Given the description of an element on the screen output the (x, y) to click on. 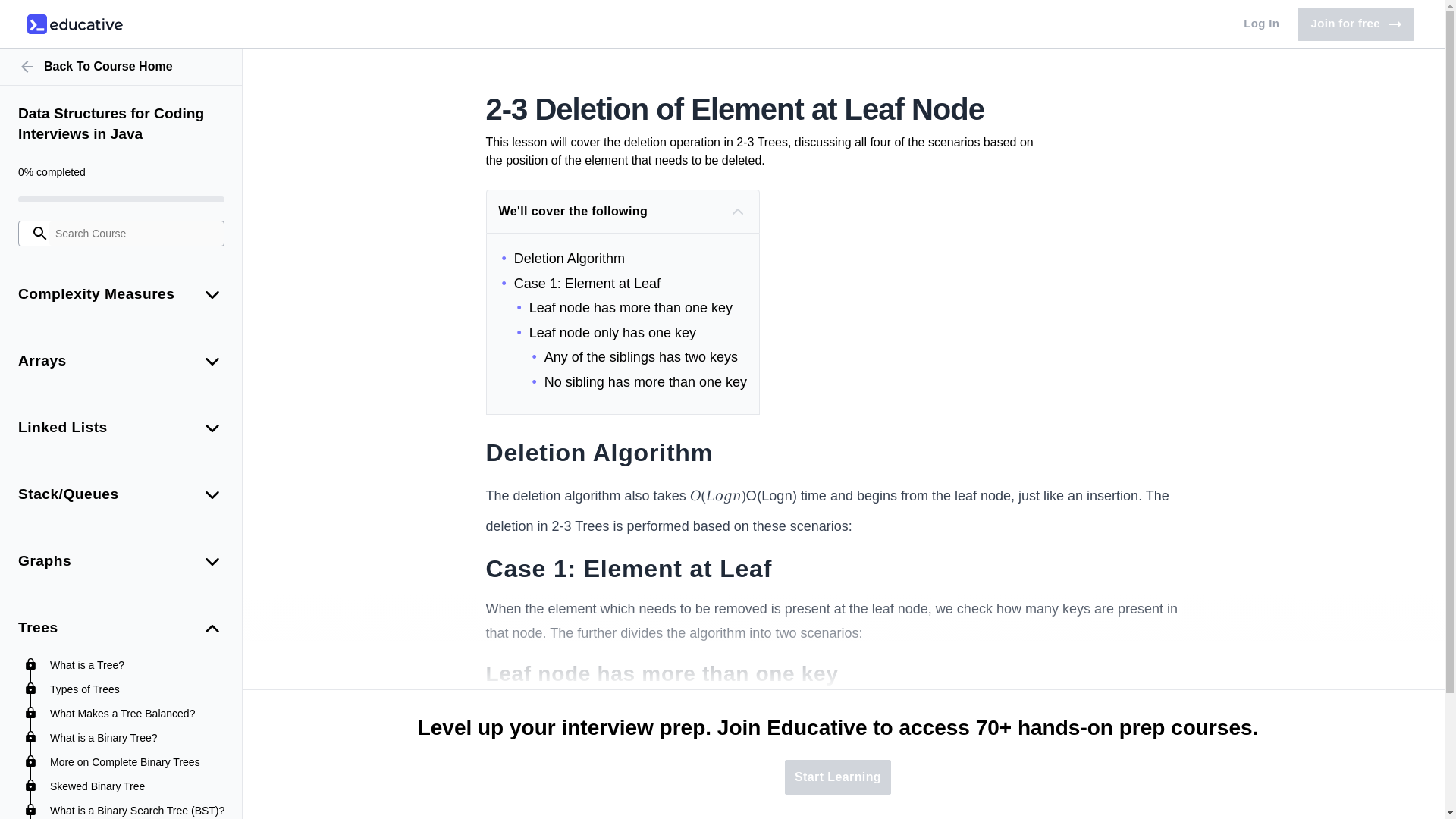
Log In (1261, 23)
Back To Course Home (1355, 23)
Data Structures for Coding Interviews in Java (121, 66)
educative.io (121, 124)
